Given the description of an element on the screen output the (x, y) to click on. 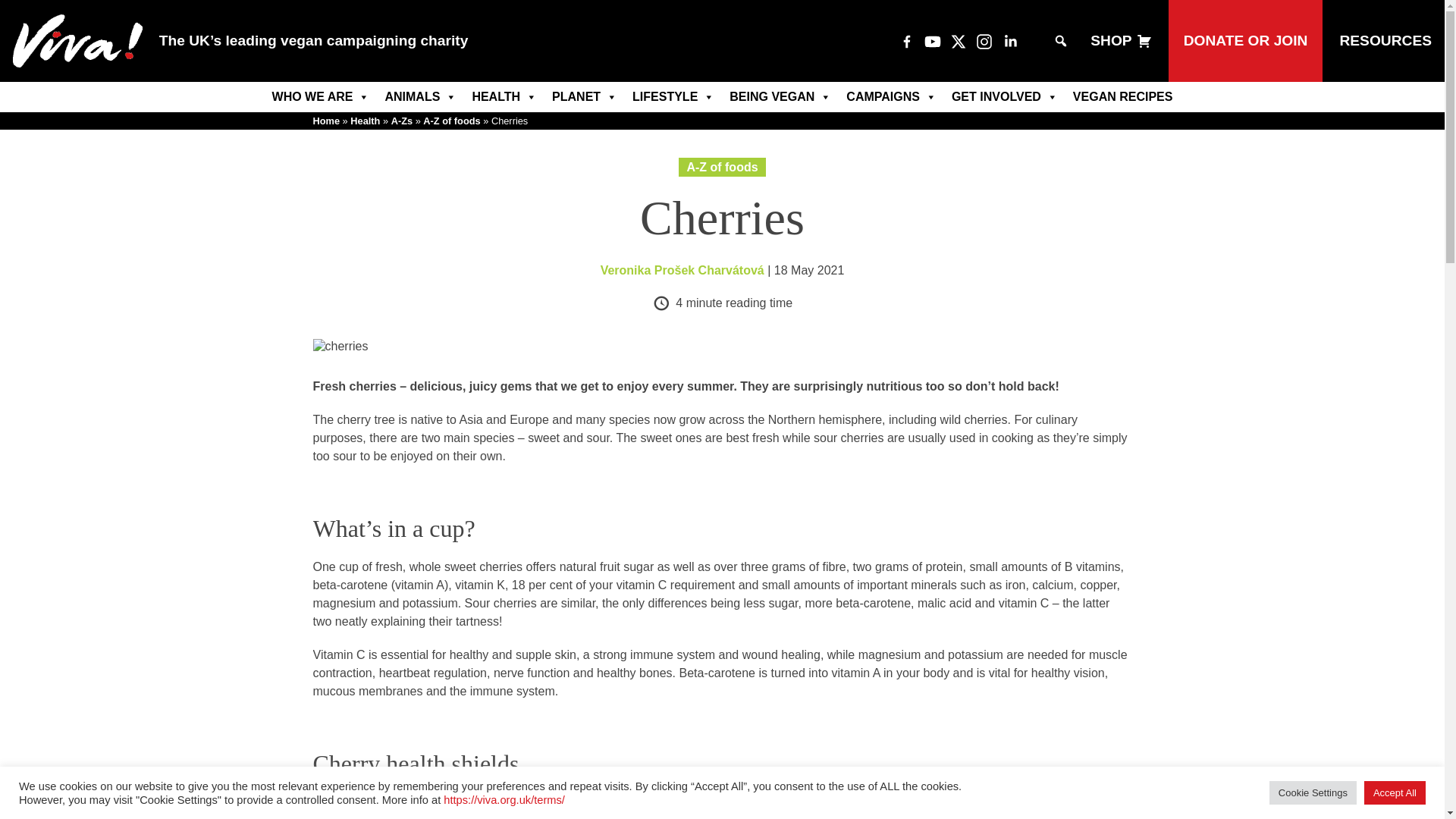
Search (21, 7)
Instagram (983, 41)
Linkedin (1010, 41)
Resources (1385, 40)
Youtube (932, 41)
ANIMALS (420, 96)
Facebook (906, 41)
Donate to Viva! (1246, 40)
RESOURCES (1385, 40)
Twitter (958, 41)
